Given the description of an element on the screen output the (x, y) to click on. 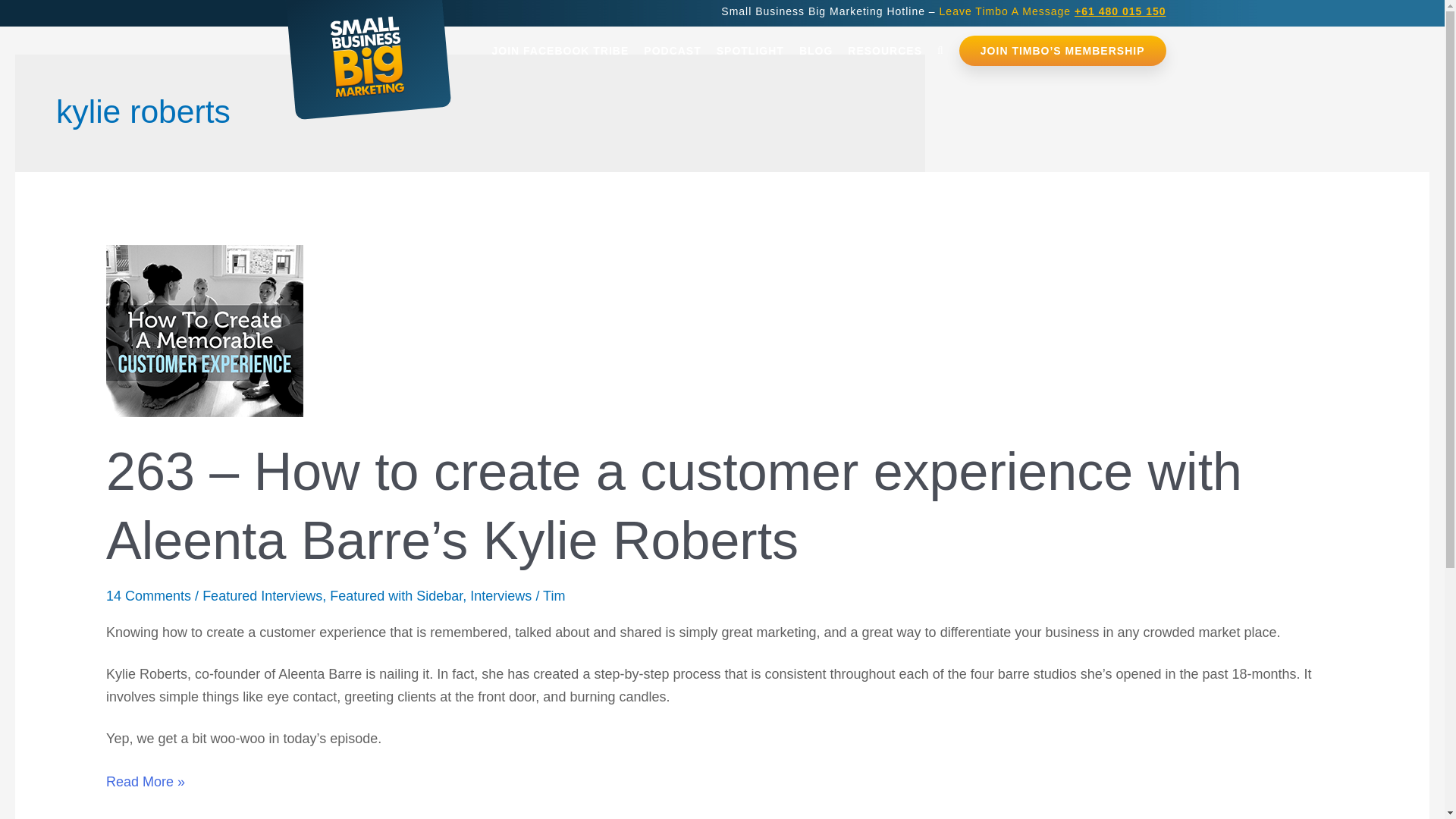
BLOG (816, 51)
View all posts by Tim (553, 595)
RESOURCES (885, 51)
PODCAST (671, 51)
JOIN FACEBOOK TRIBE (559, 51)
SPOTLIGHT (750, 51)
